Given the description of an element on the screen output the (x, y) to click on. 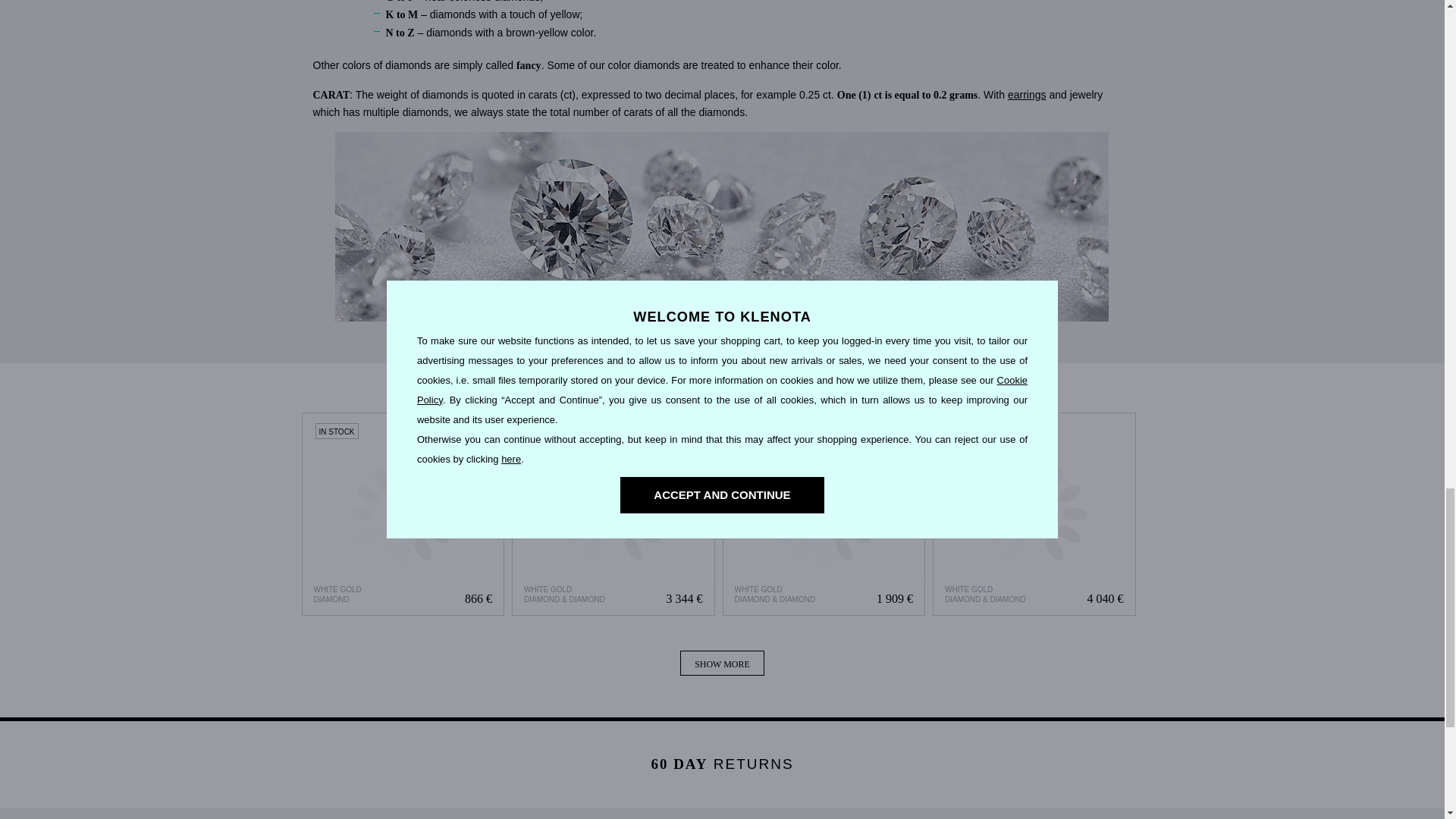
Diamond Leverback Earrings in White Gold (1034, 514)
Brilliant Earrings in White Gold (613, 513)
Diamond Circle Earrings (402, 514)
Diamond Leverback Earrings in White Gold (1034, 513)
Diamond Circle Earrings (403, 513)
Halo Diamond Necklace in White Gold (823, 513)
Brilliant Earrings in White Gold (613, 514)
Halo Diamond Necklace in White Gold (823, 514)
